Given the description of an element on the screen output the (x, y) to click on. 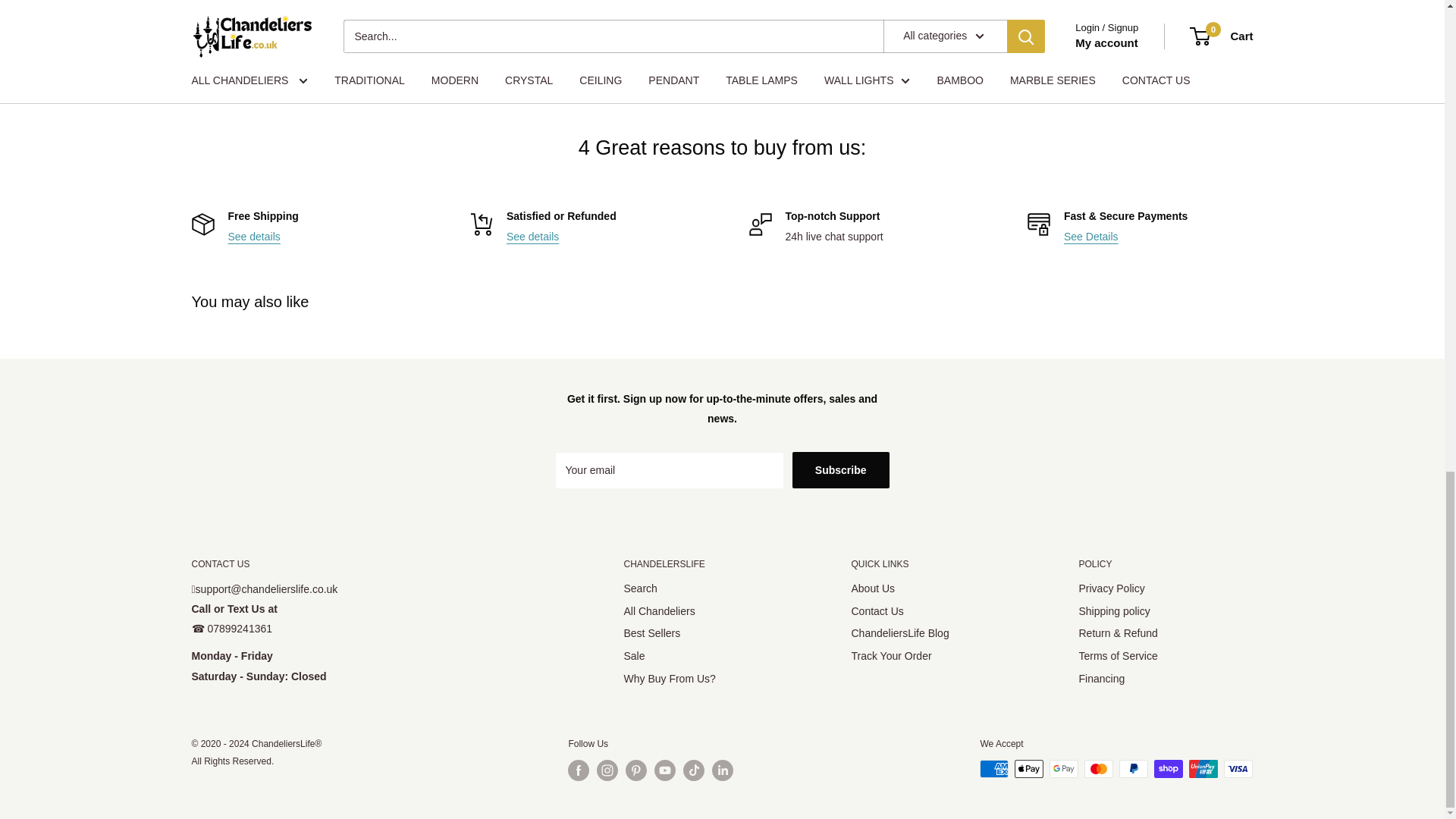
Refund Policy (532, 236)
Shipping policy (253, 236)
Payment methods (1091, 236)
